Given the description of an element on the screen output the (x, y) to click on. 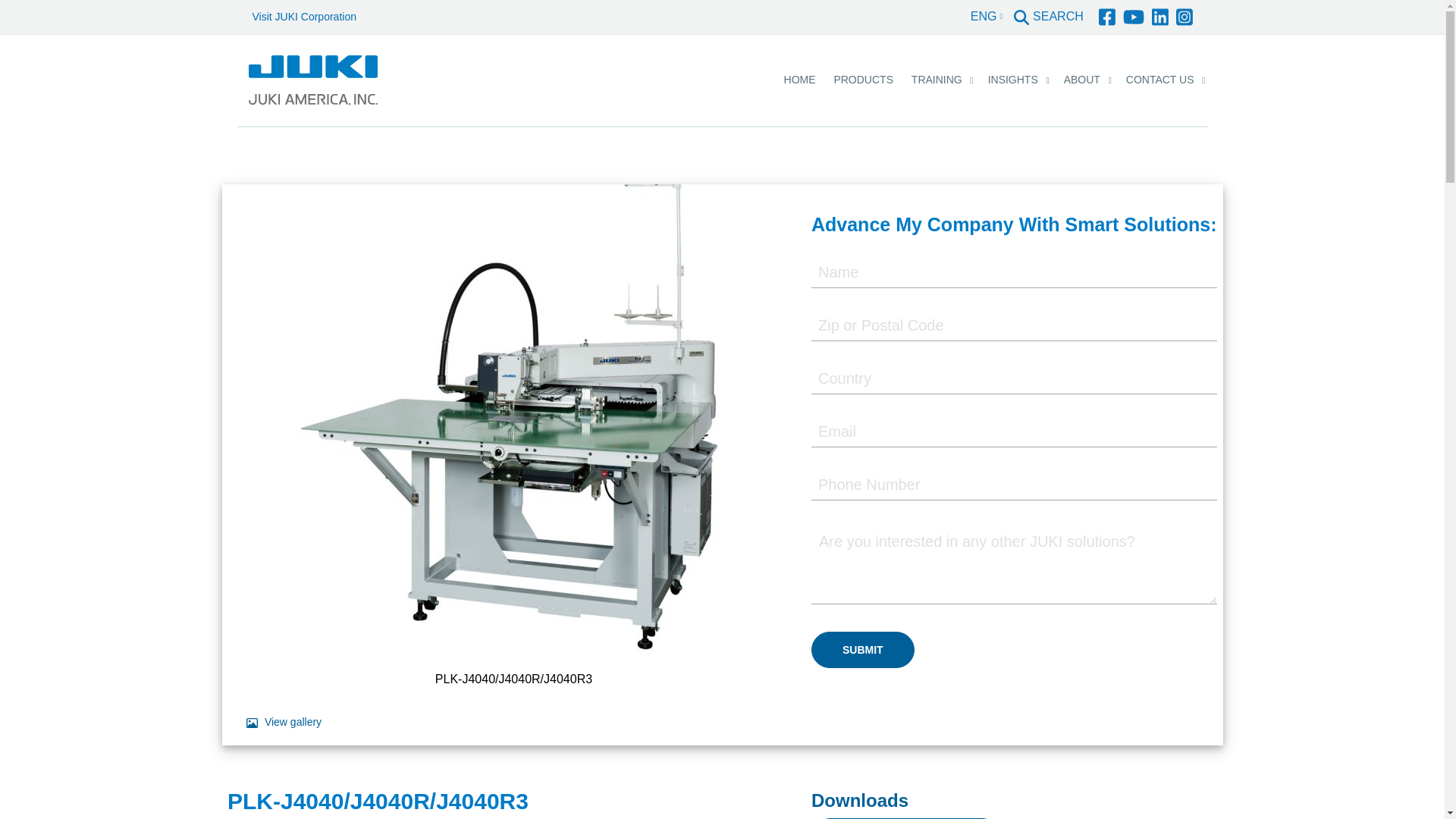
TRAINING (936, 79)
SUBMIT (862, 649)
View gallery (283, 721)
Name (1013, 272)
INSIGHTS (1012, 79)
HOME (800, 79)
Message (1013, 563)
Email (1013, 431)
Visit JUKI Corporation (303, 16)
